Given the description of an element on the screen output the (x, y) to click on. 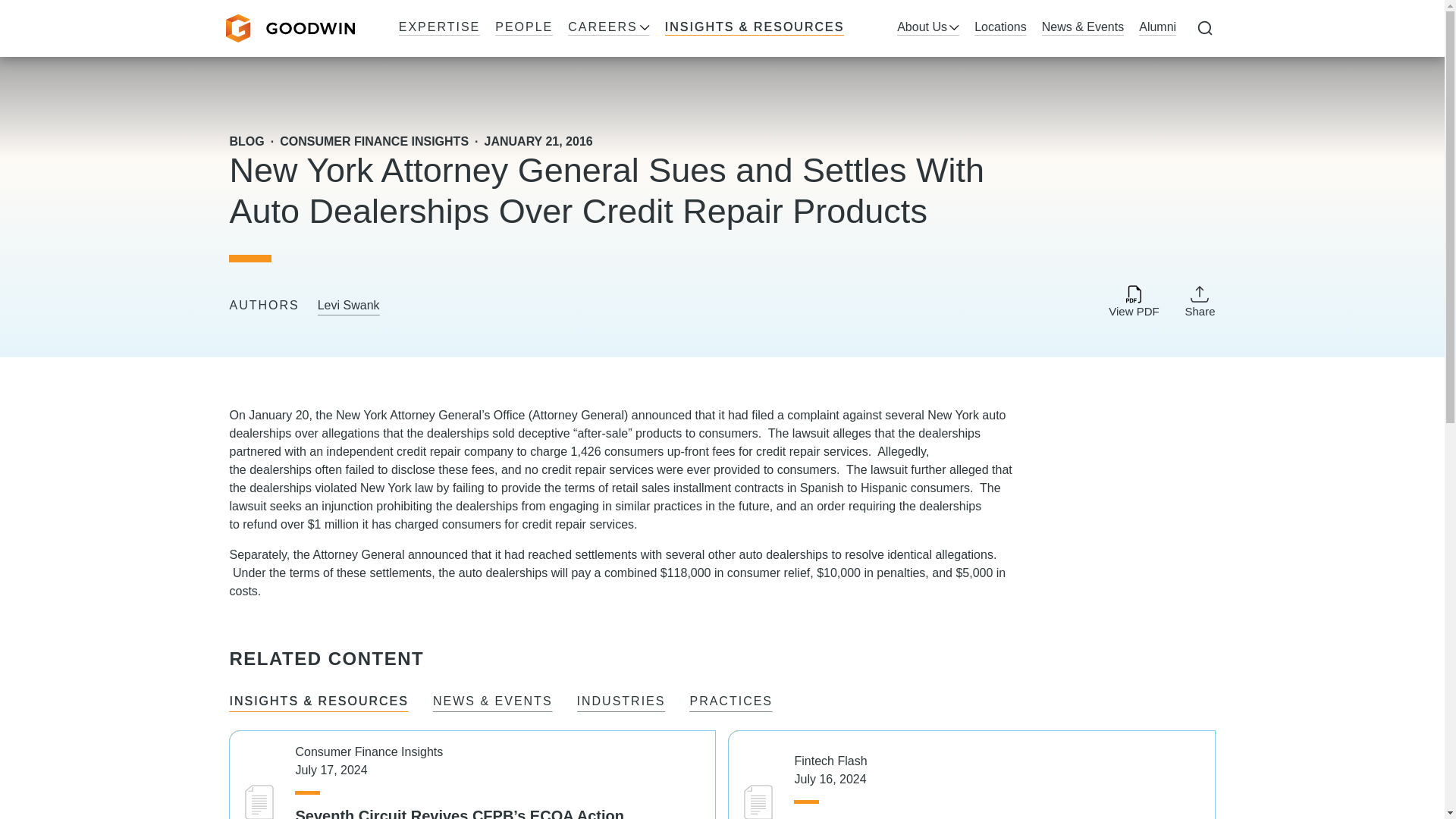
PRACTICES (730, 702)
EXPERTISE (439, 28)
Levi Swank (348, 306)
announced (661, 414)
Locations (1000, 28)
Share (1199, 300)
Goodwin (290, 28)
CAREERS (608, 28)
View PDF (1133, 302)
INDUSTRIES (620, 702)
About Us (927, 28)
Alumni (1157, 28)
PEOPLE (524, 28)
